Given the description of an element on the screen output the (x, y) to click on. 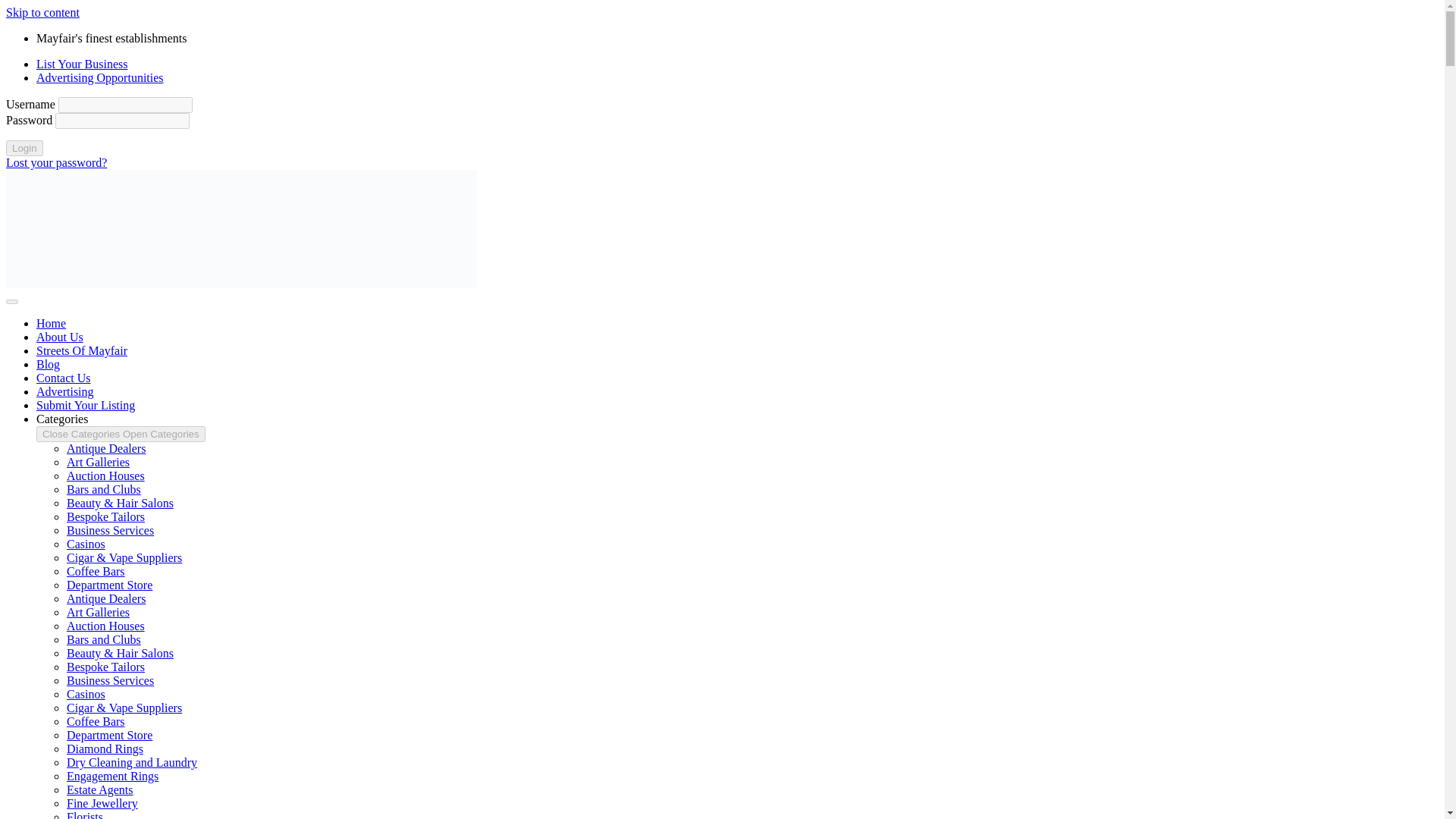
Close Categories Open Categories (120, 433)
Coffee Bars (95, 571)
Art Galleries (97, 461)
List Your Business (82, 63)
Diamond Rings (104, 748)
Auction Houses (105, 625)
Submit Your Listing (85, 404)
Coffee Bars (95, 721)
Bespoke Tailors (105, 666)
Auction Houses (105, 475)
Home (50, 323)
Blog (47, 364)
Dry Cleaning and Laundry (131, 762)
Bars and Clubs (103, 489)
Bars and Clubs (103, 639)
